Given the description of an element on the screen output the (x, y) to click on. 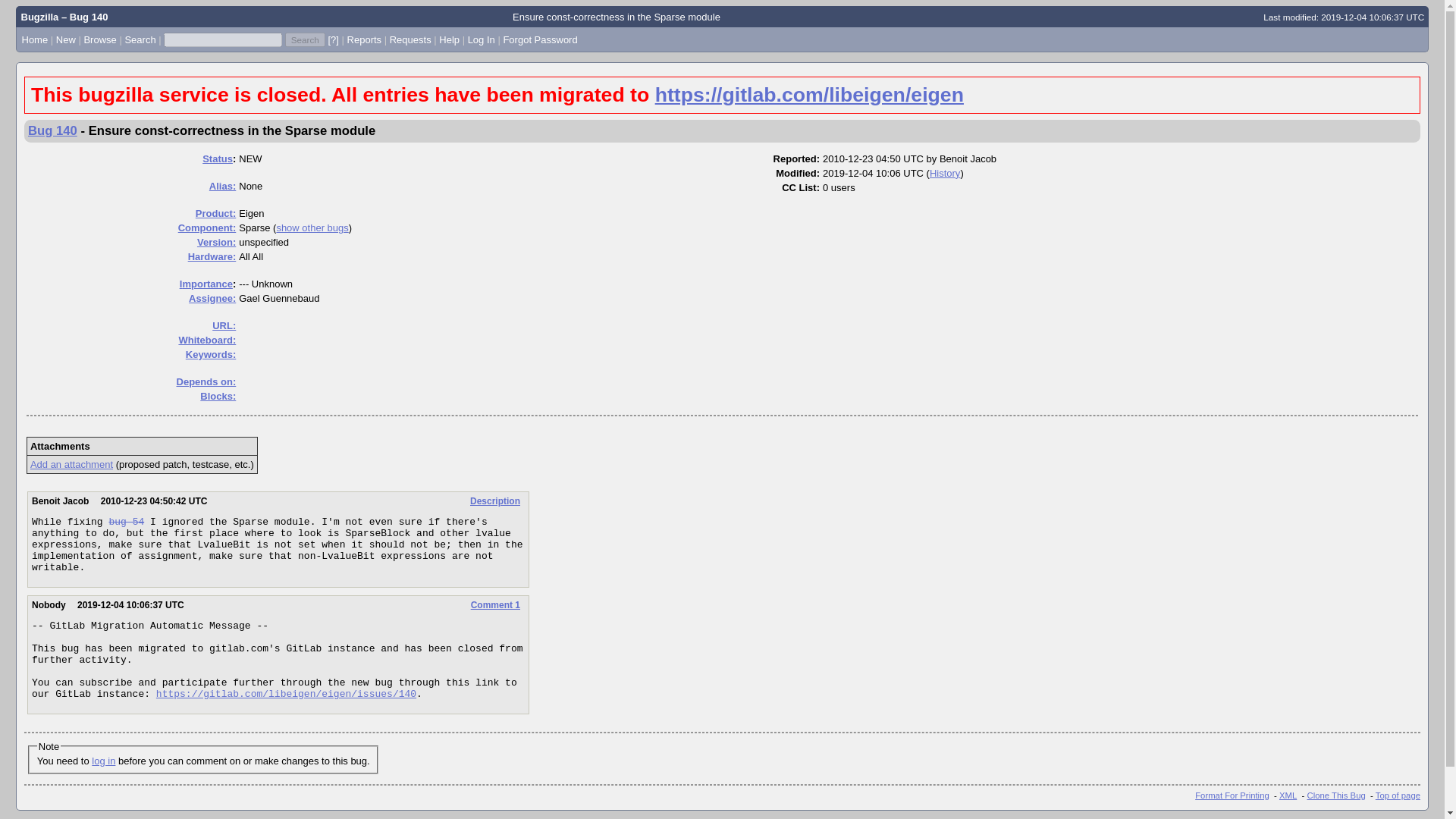
RESOLVED FIXED - Const-correctness (125, 521)
Requests (410, 39)
Whiteboard: (206, 339)
Importance (205, 283)
Component: (206, 227)
Depends on: (205, 381)
Hardware: (211, 256)
Add an attachment (71, 464)
Keywords: (210, 354)
show other bugs (311, 227)
The person in charge of resolving the bug. (212, 297)
